Given the description of an element on the screen output the (x, y) to click on. 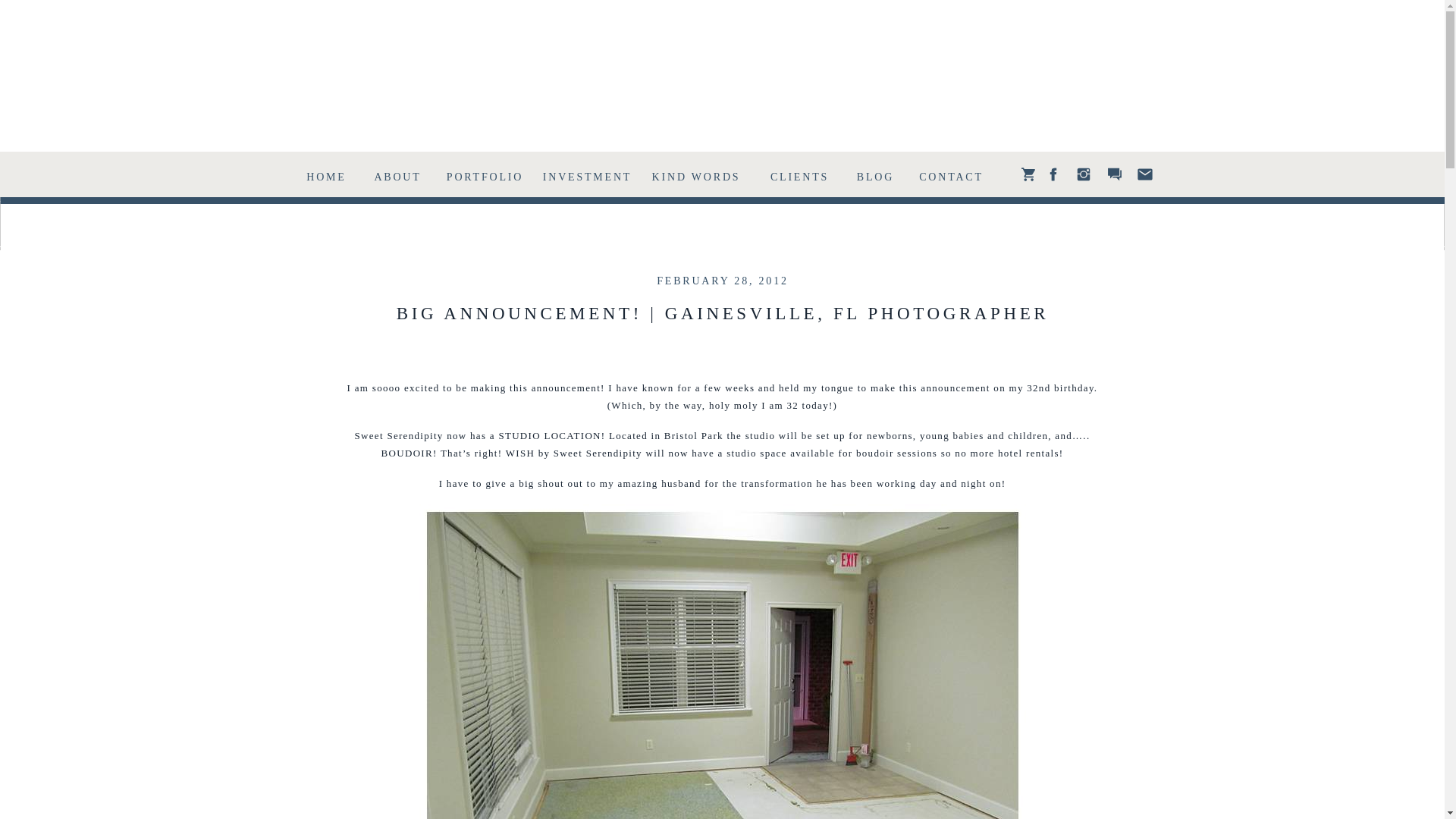
HOME (325, 174)
PORTFOLIO (485, 174)
KIND WORDS (695, 174)
CONTACT (950, 174)
BLOG (875, 174)
CLIENTS (800, 174)
INVESTMENT (586, 174)
ABOUT (397, 174)
